Given the description of an element on the screen output the (x, y) to click on. 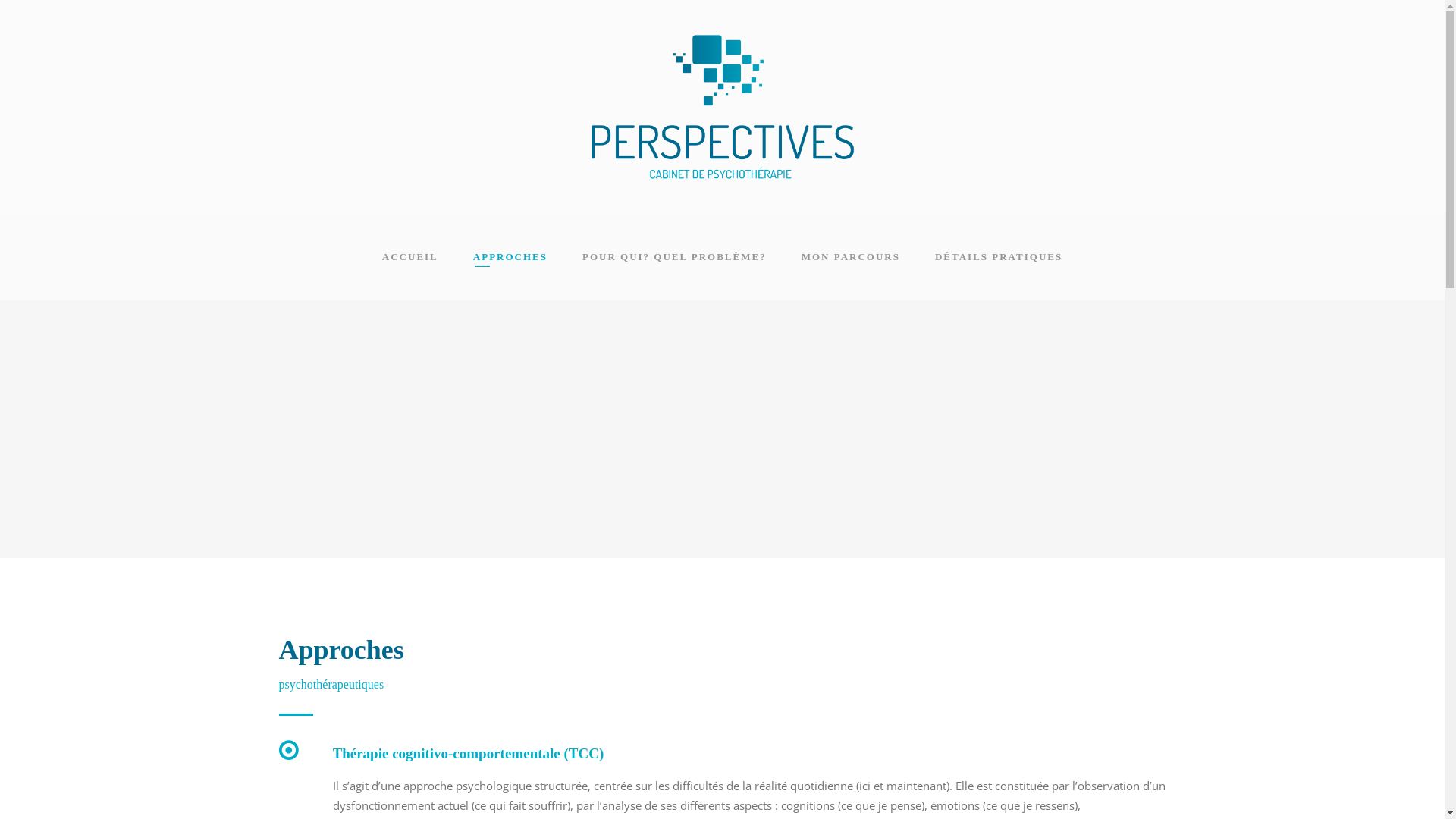
ACCUEIL Element type: text (410, 256)
MON PARCOURS Element type: text (850, 256)
APPROCHES Element type: text (510, 256)
